Given the description of an element on the screen output the (x, y) to click on. 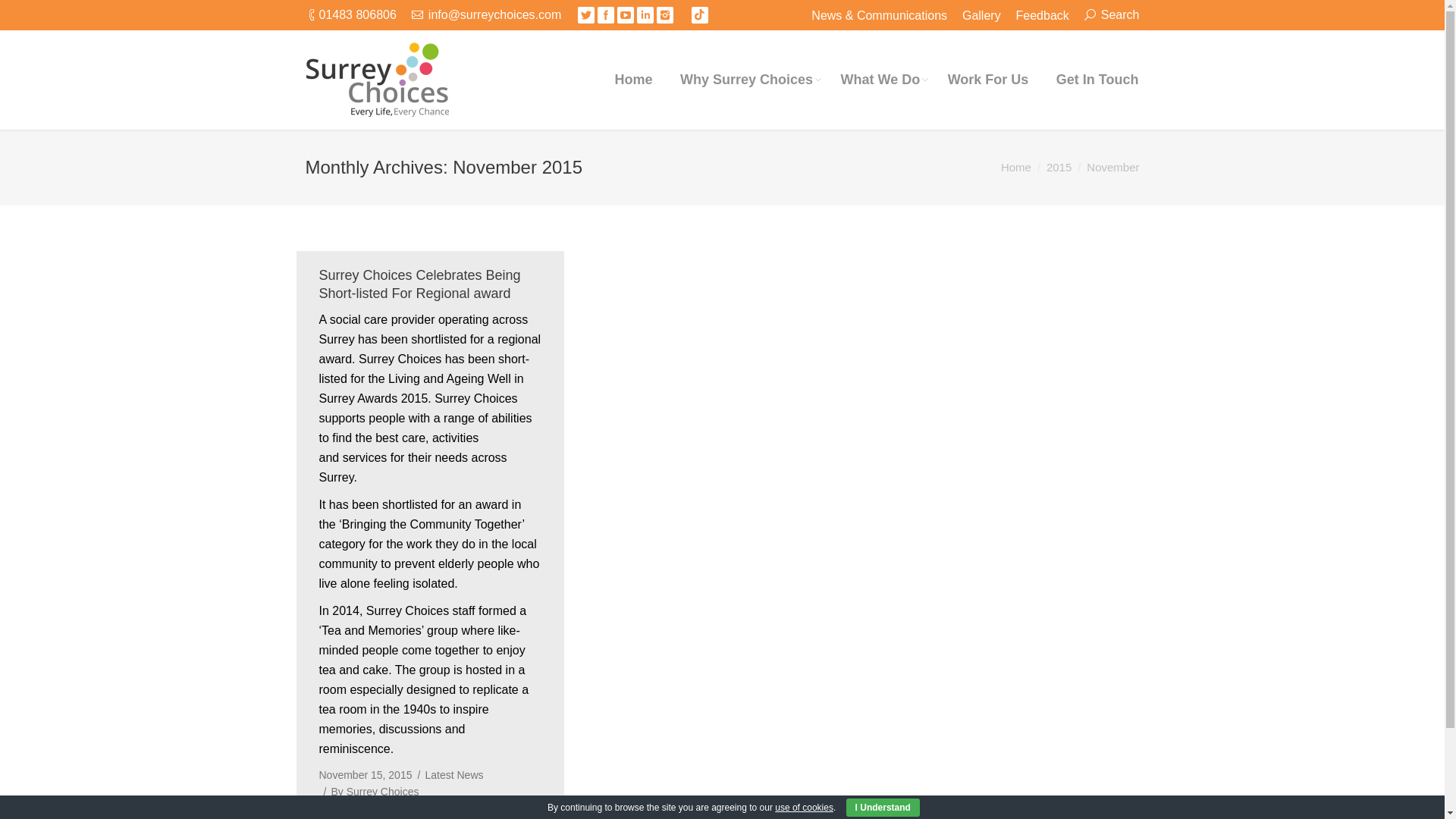
12:00 am (365, 774)
Facebook (605, 14)
View all posts by Surrey Choices (371, 791)
Search (1112, 14)
YouTube (625, 14)
Why Surrey Choices (746, 80)
Home (633, 80)
Feedback (1042, 15)
Go! (18, 15)
Gallery (981, 15)
01483 806806 (357, 14)
What We Do (880, 80)
Twitter (586, 14)
Linkedin (645, 14)
